Given the description of an element on the screen output the (x, y) to click on. 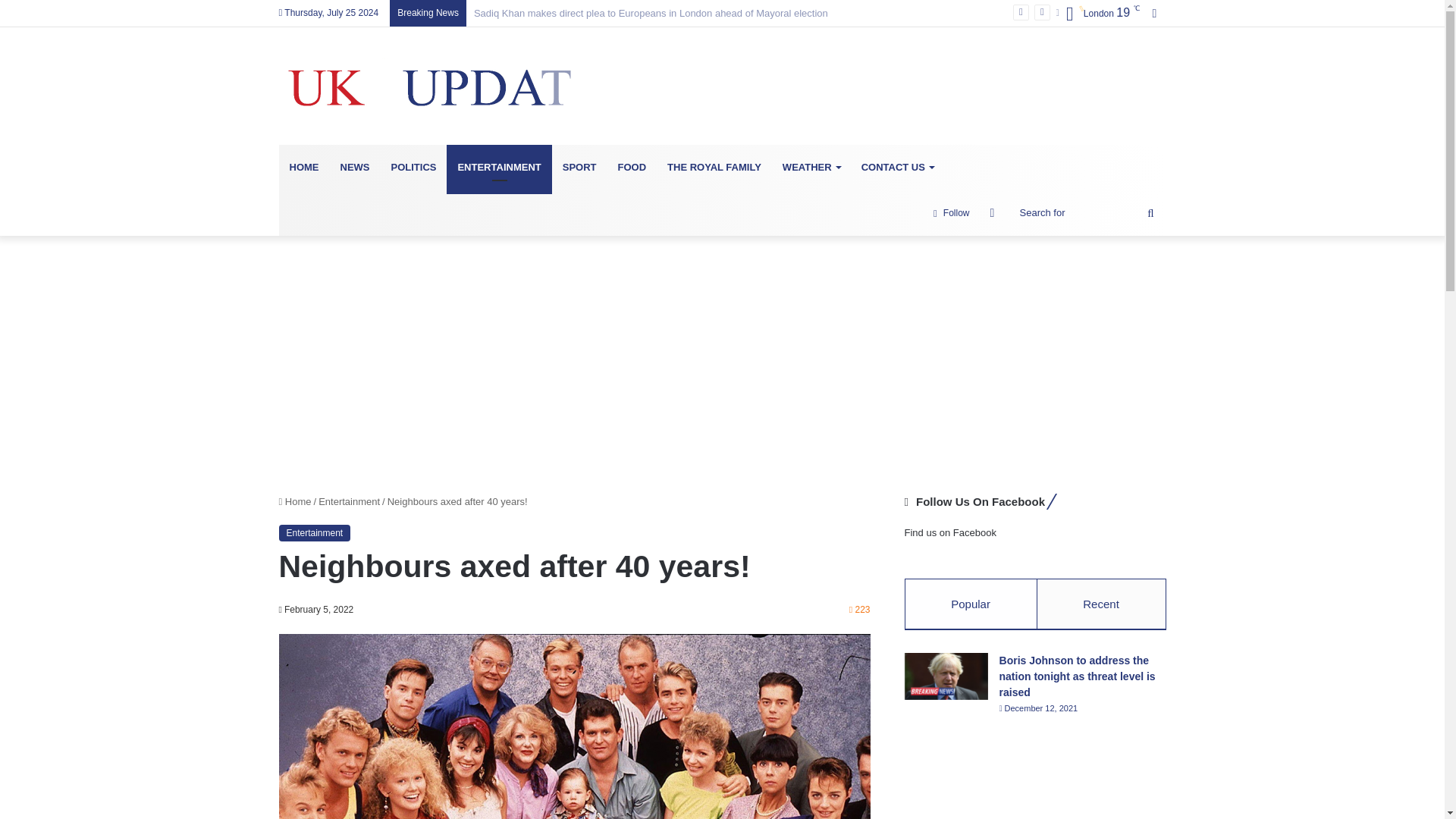
Sidebar (1154, 13)
Switch skin (992, 212)
Recent (1101, 604)
Popular (970, 604)
Search for (1150, 212)
ENTERTAINMENT (498, 167)
Search for (1088, 212)
Follow (950, 212)
WEATHER (810, 167)
POLITICS (413, 167)
Scattered Clouds (1098, 13)
Switch skin (992, 212)
Find us on Facebook (949, 532)
